Given the description of an element on the screen output the (x, y) to click on. 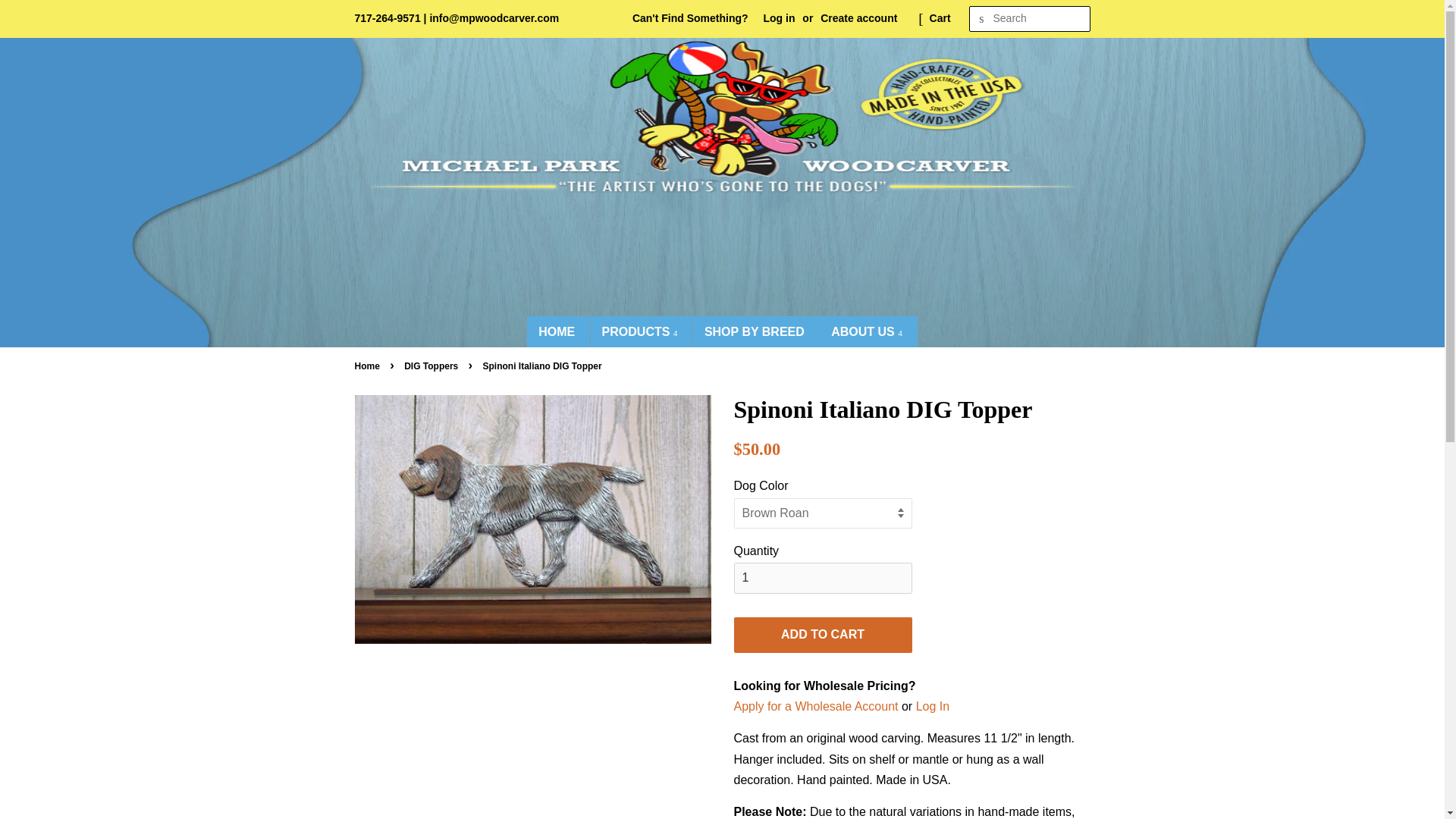
Back to the frontpage (369, 366)
Can't Find Something? (689, 18)
Create account (858, 18)
PRODUCTS (642, 331)
Cart (940, 18)
SEARCH (980, 18)
1 (822, 577)
Log in (778, 18)
HOME (558, 331)
